Given the description of an element on the screen output the (x, y) to click on. 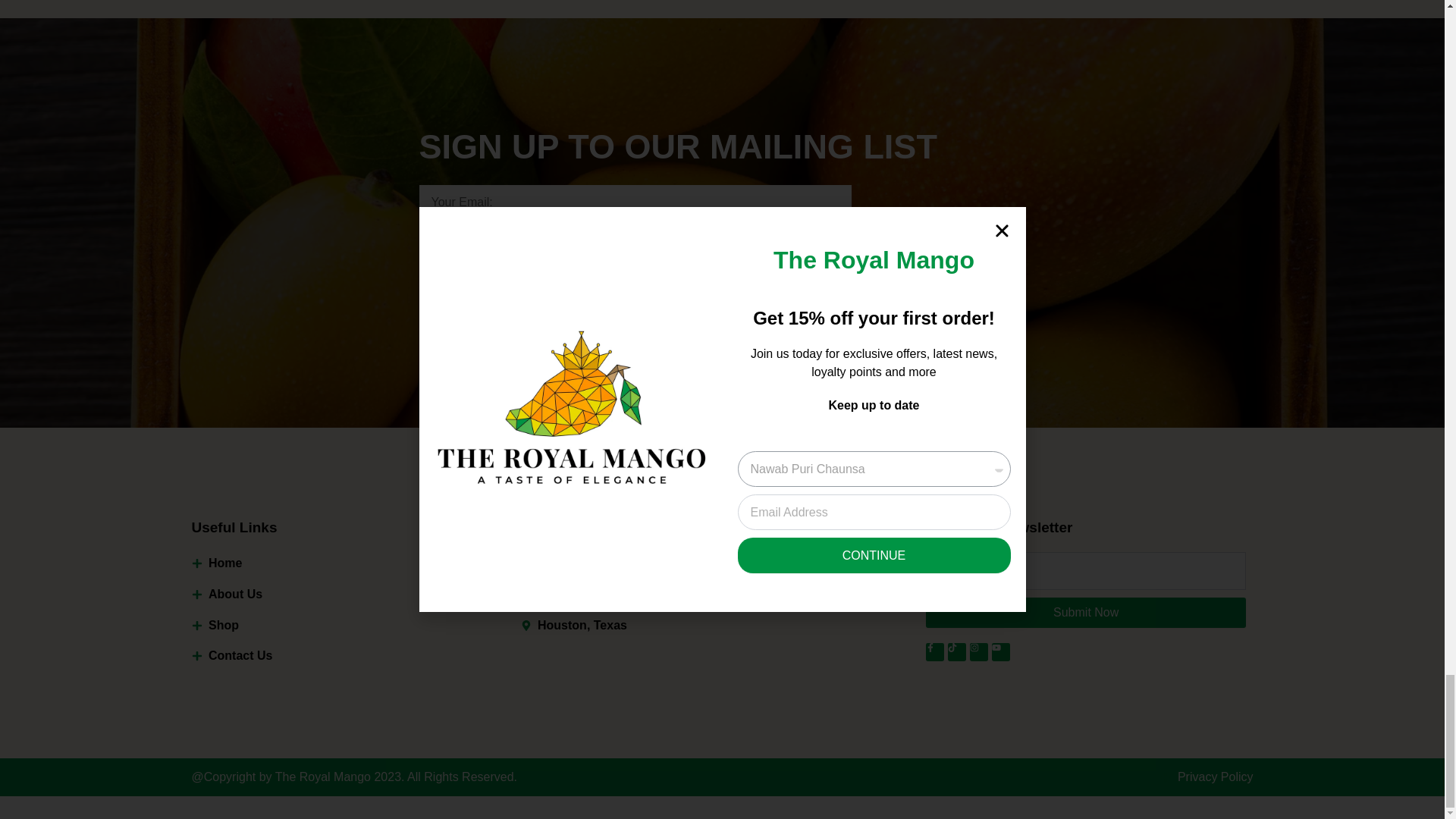
on (423, 238)
